Given the description of an element on the screen output the (x, y) to click on. 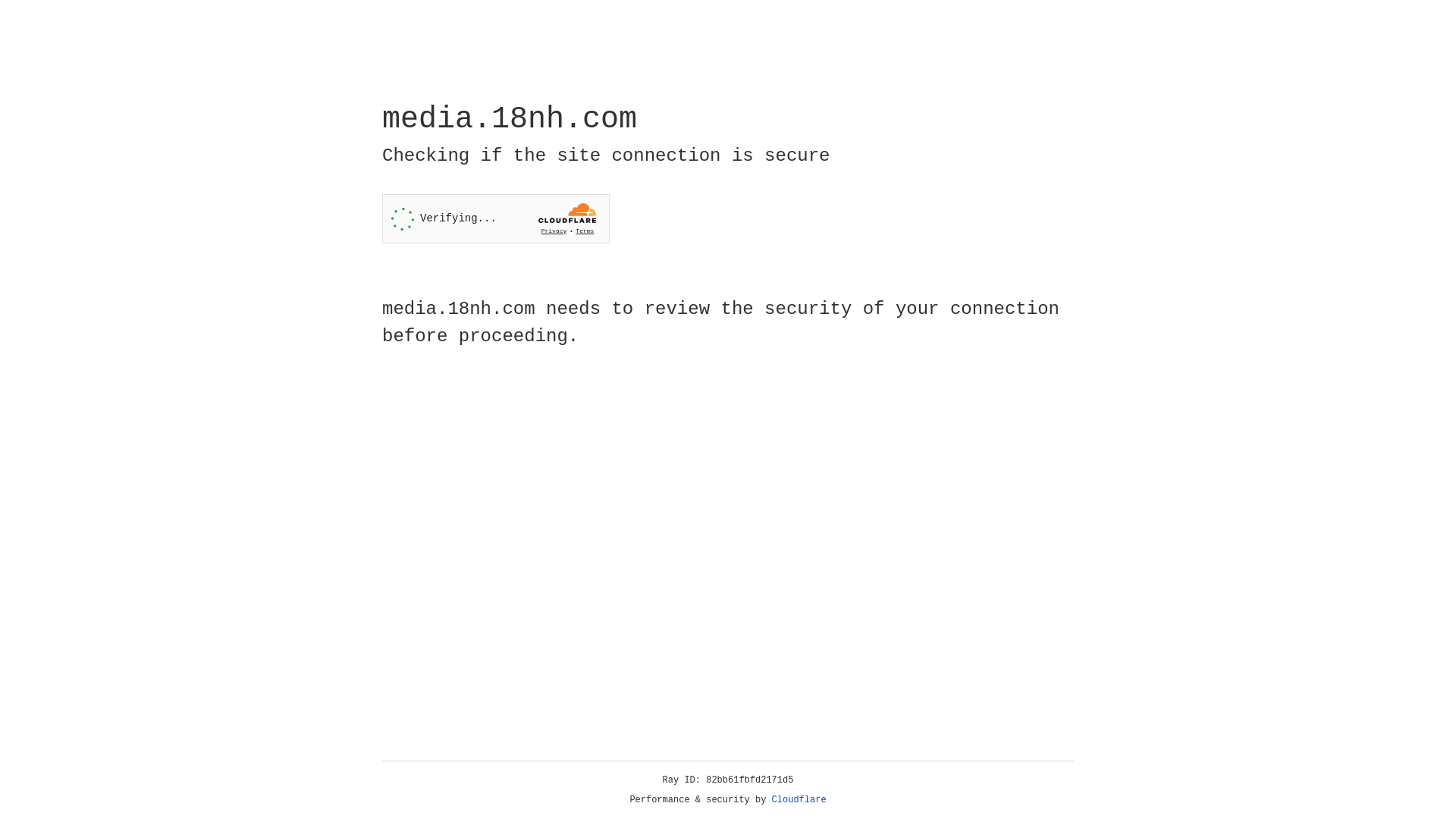
Widget containing a Cloudflare security challenge Element type: hover (495, 218)
Cloudflare Element type: text (798, 799)
